Given the description of an element on the screen output the (x, y) to click on. 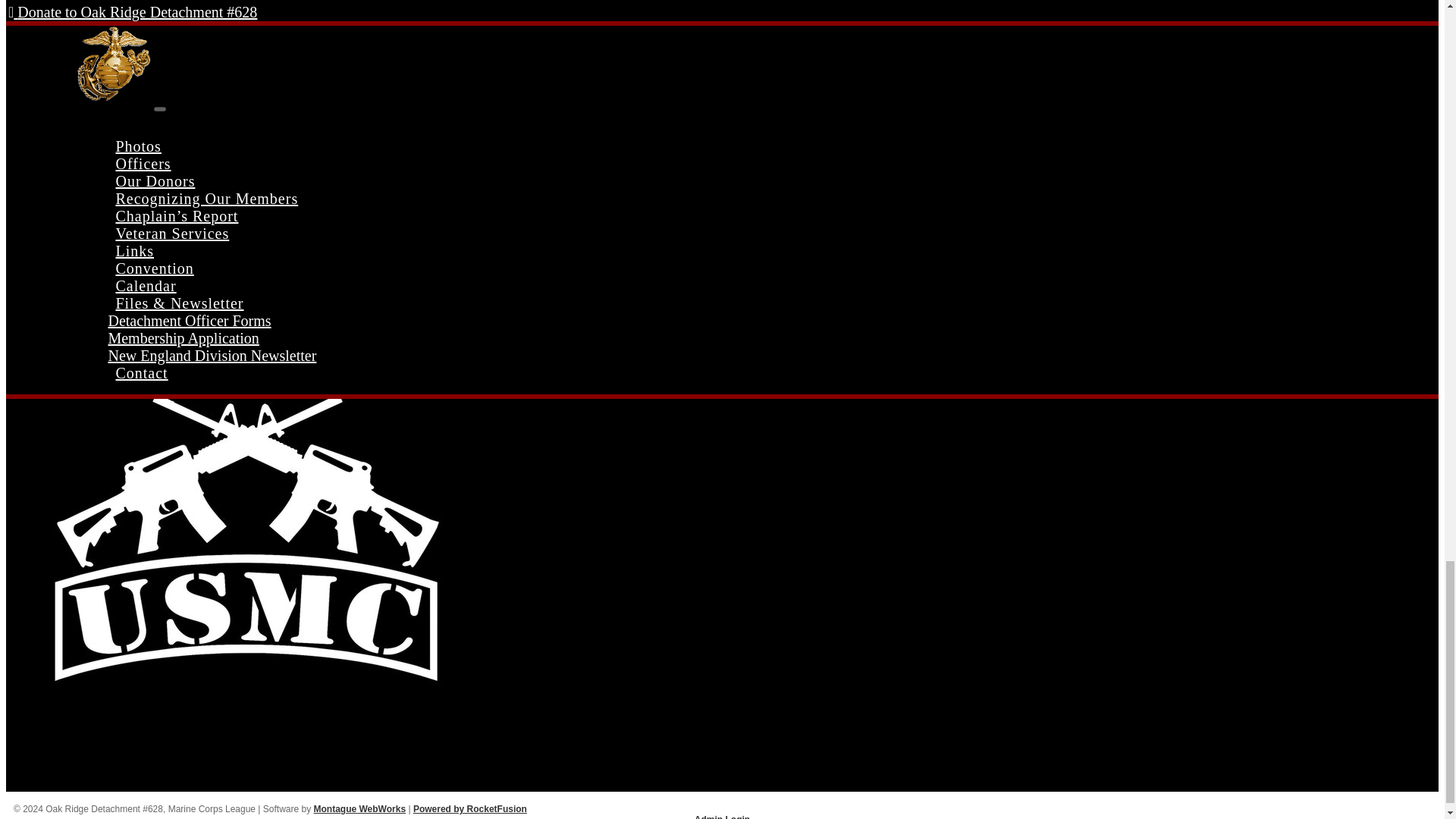
Powered by RocketFusion (470, 808)
Montague WebWorks (360, 808)
